Given the description of an element on the screen output the (x, y) to click on. 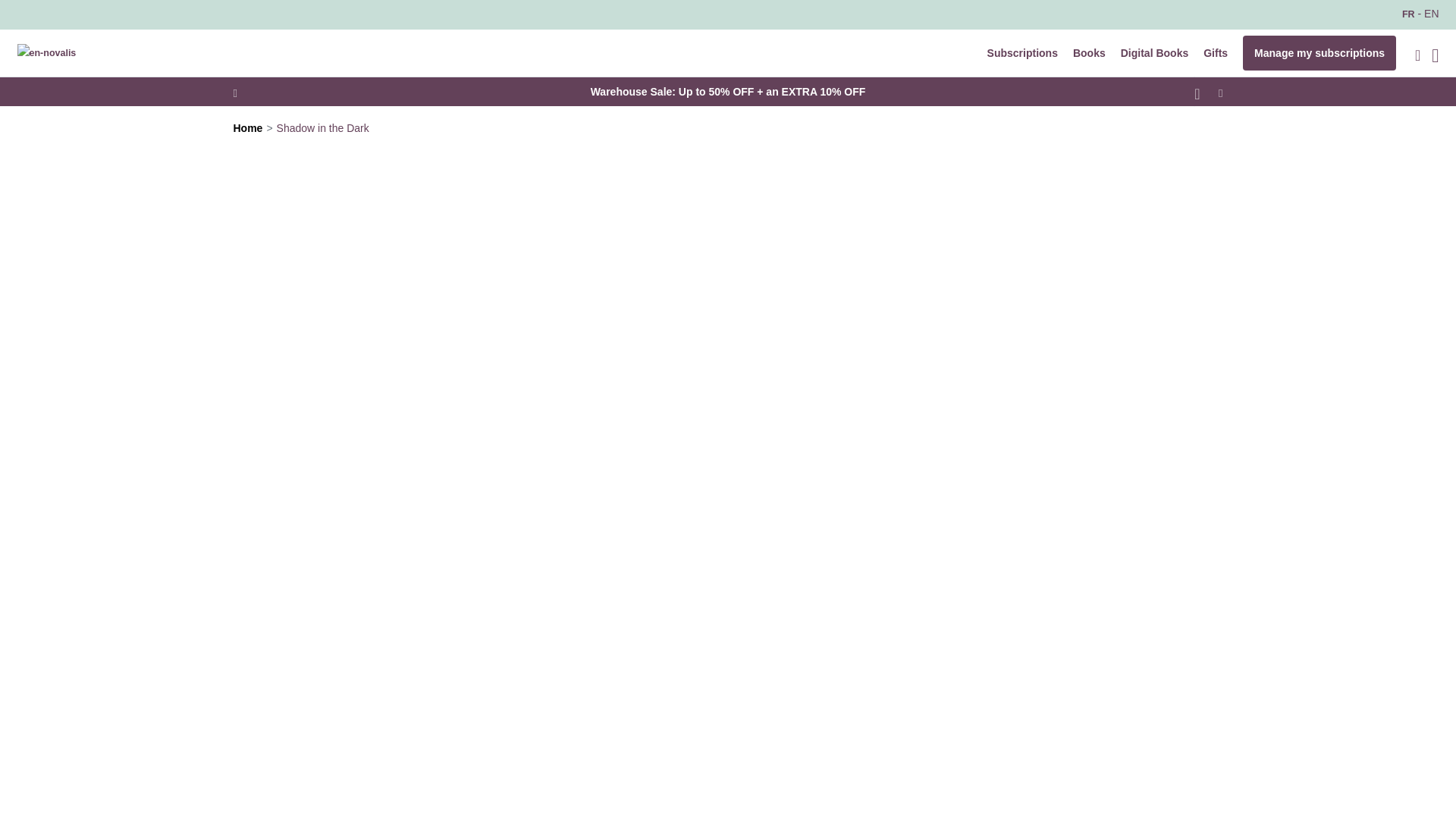
Home (247, 128)
Digital Books (1154, 52)
Subscriptions (1022, 52)
Manage my subscriptions (1319, 53)
Books (1089, 52)
Home (247, 128)
